Given the description of an element on the screen output the (x, y) to click on. 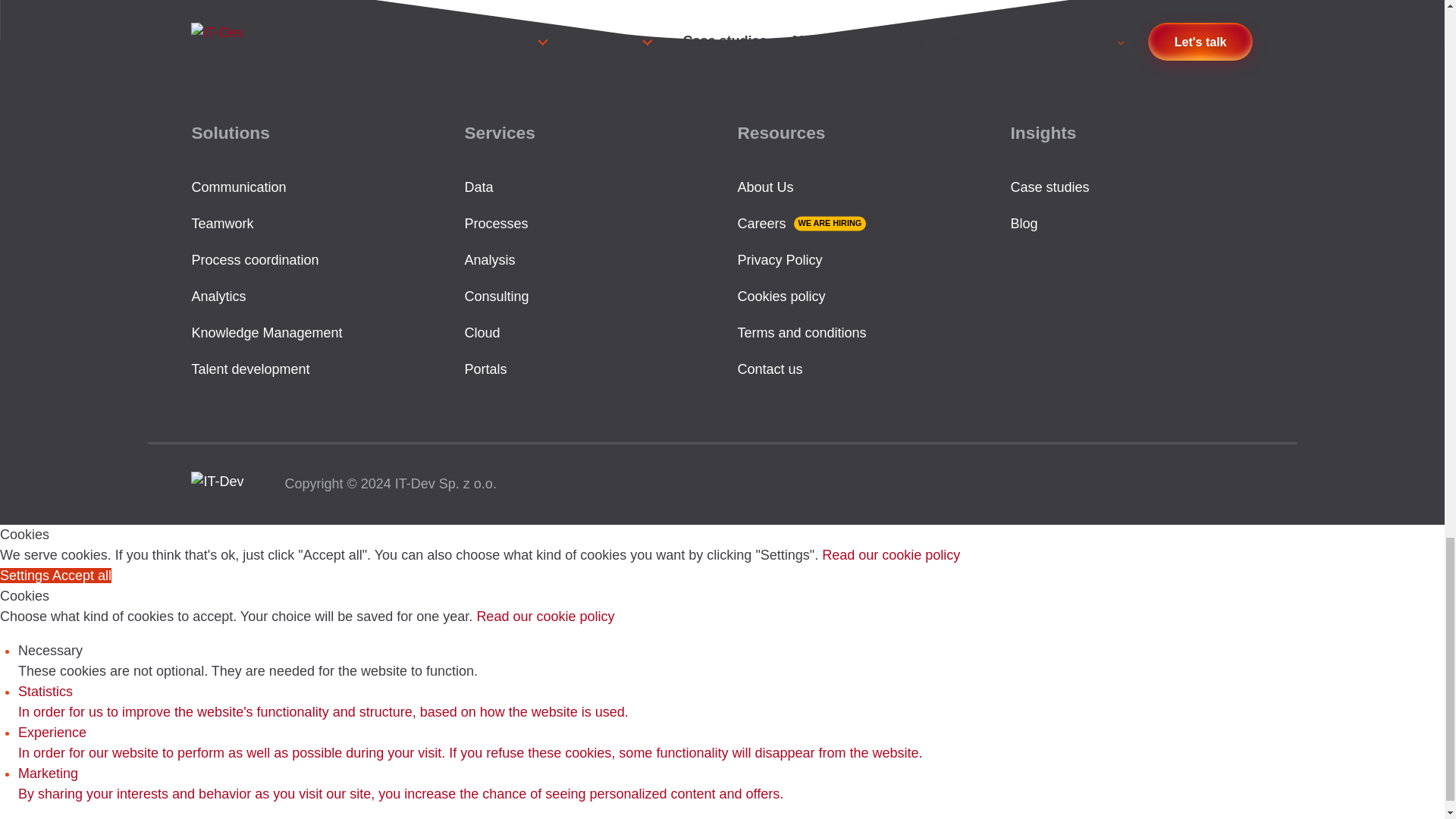
Processes (495, 223)
Process coordination (254, 259)
Data (478, 186)
Analysis (489, 259)
Consulting (496, 296)
Analytics (218, 296)
Talent development (249, 369)
Knowledge Management (266, 332)
Communication (237, 186)
Teamwork (221, 223)
